Given the description of an element on the screen output the (x, y) to click on. 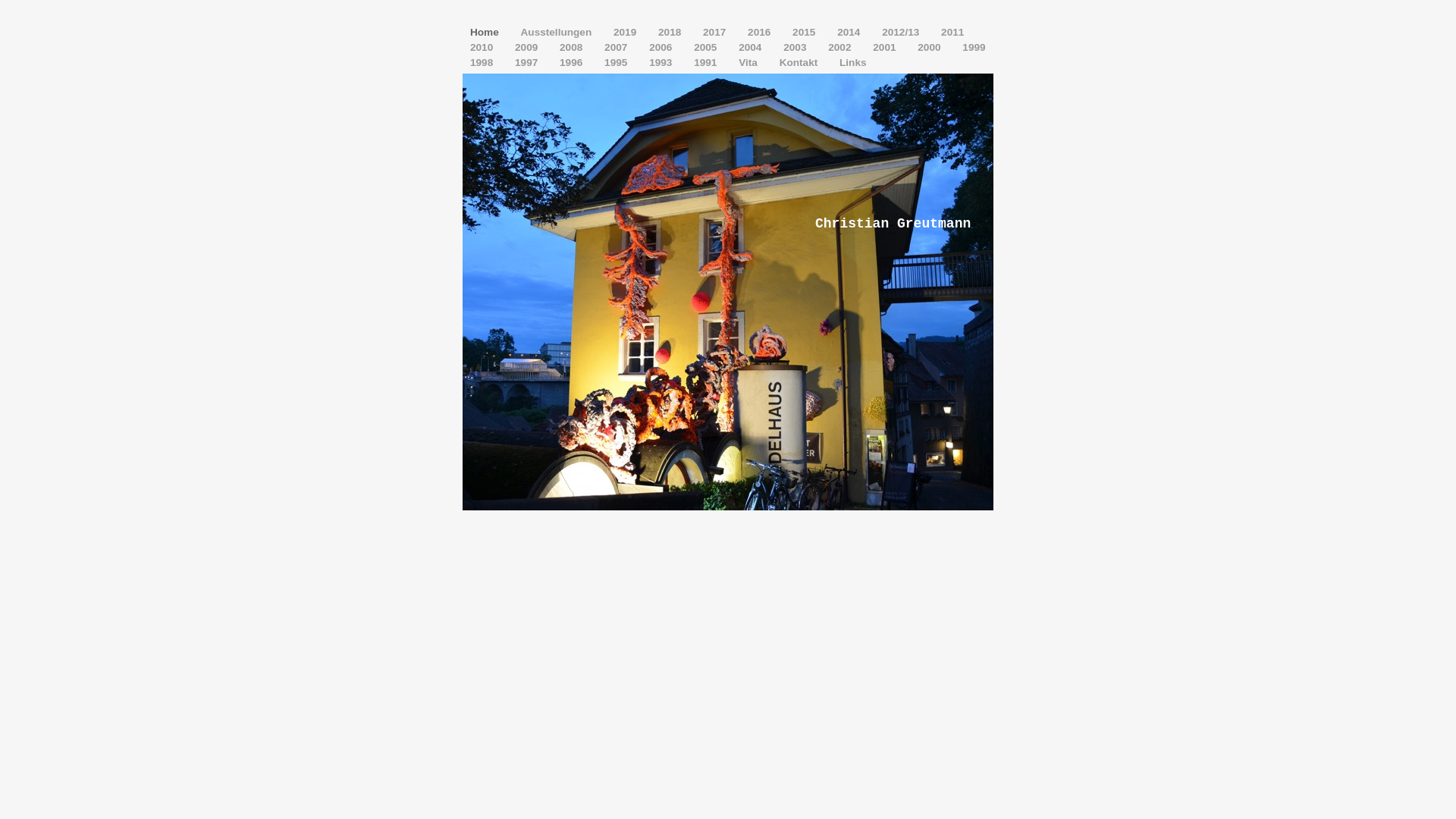
2010 Element type: text (482, 47)
2011 Element type: text (952, 31)
Vita Element type: text (748, 62)
2016 Element type: text (760, 31)
2004 Element type: text (751, 47)
2000 Element type: text (930, 47)
2001 Element type: text (885, 47)
2019 Element type: text (626, 31)
1998 Element type: text (482, 62)
Ausstellungen Element type: text (557, 31)
2006 Element type: text (661, 47)
2012/13 Element type: text (901, 31)
2018 Element type: text (671, 31)
1991 Element type: text (706, 62)
2008 Element type: text (572, 47)
Kontakt Element type: text (799, 62)
1993 Element type: text (661, 62)
2015 Element type: text (805, 31)
2017 Element type: text (715, 31)
2007 Element type: text (617, 47)
2009 Element type: text (527, 47)
1997 Element type: text (527, 62)
Home Element type: text (486, 31)
2003 Element type: text (796, 47)
2002 Element type: text (840, 47)
1995 Element type: text (617, 62)
1999 Element type: text (973, 47)
1996 Element type: text (572, 62)
Links Element type: text (852, 62)
2005 Element type: text (706, 47)
2014 Element type: text (849, 31)
